Given the description of an element on the screen output the (x, y) to click on. 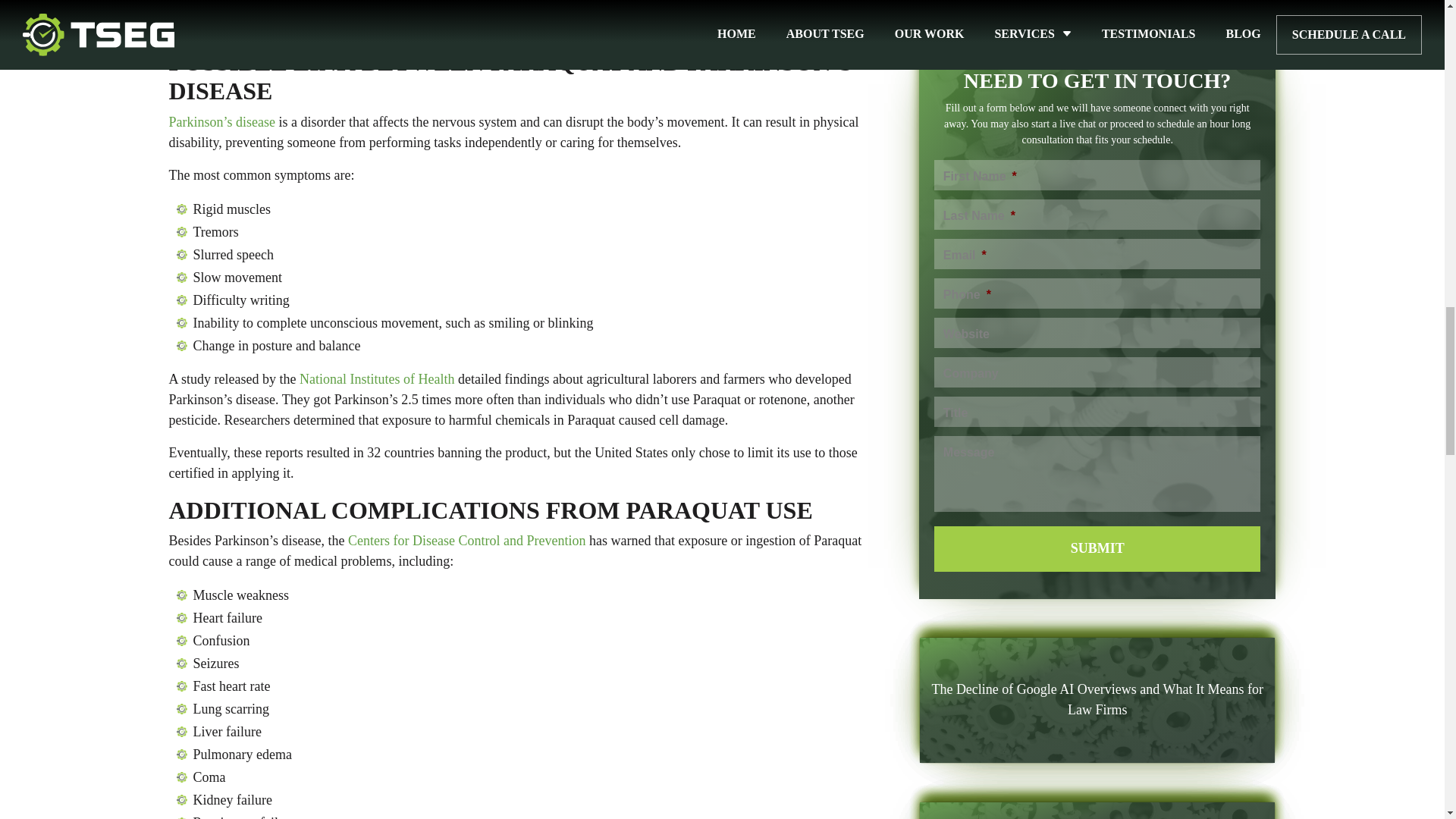
Centers for Disease Control and Prevention (466, 540)
National Institutes of Health (376, 378)
